Given the description of an element on the screen output the (x, y) to click on. 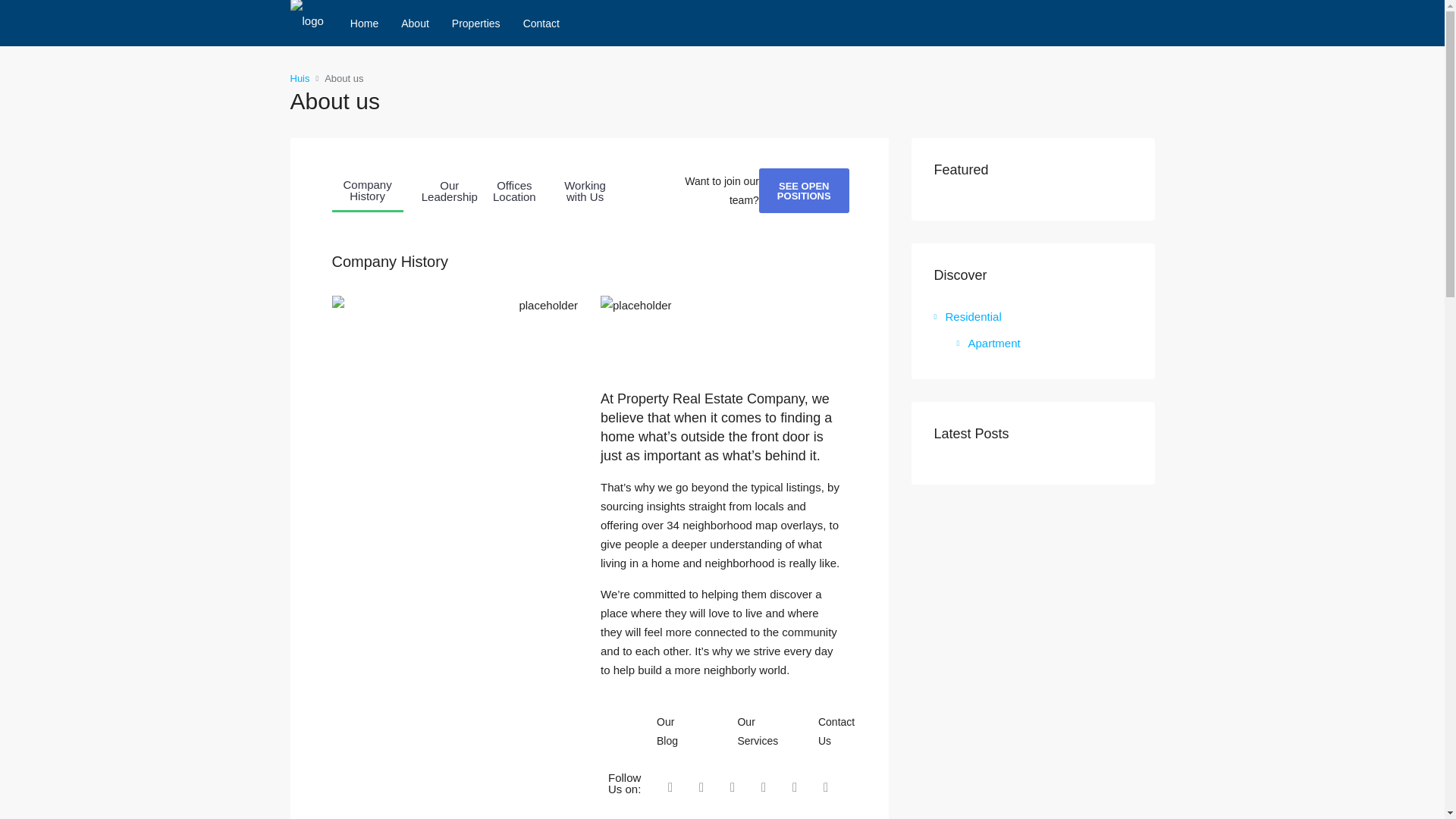
Our Leadership (449, 189)
Working with Us (585, 189)
About (415, 22)
Contact (541, 22)
Home (364, 22)
Huis (298, 77)
Properties (476, 22)
SEE OPEN POSITIONS (803, 190)
Company History (367, 190)
Offices Location (514, 189)
